Given the description of an element on the screen output the (x, y) to click on. 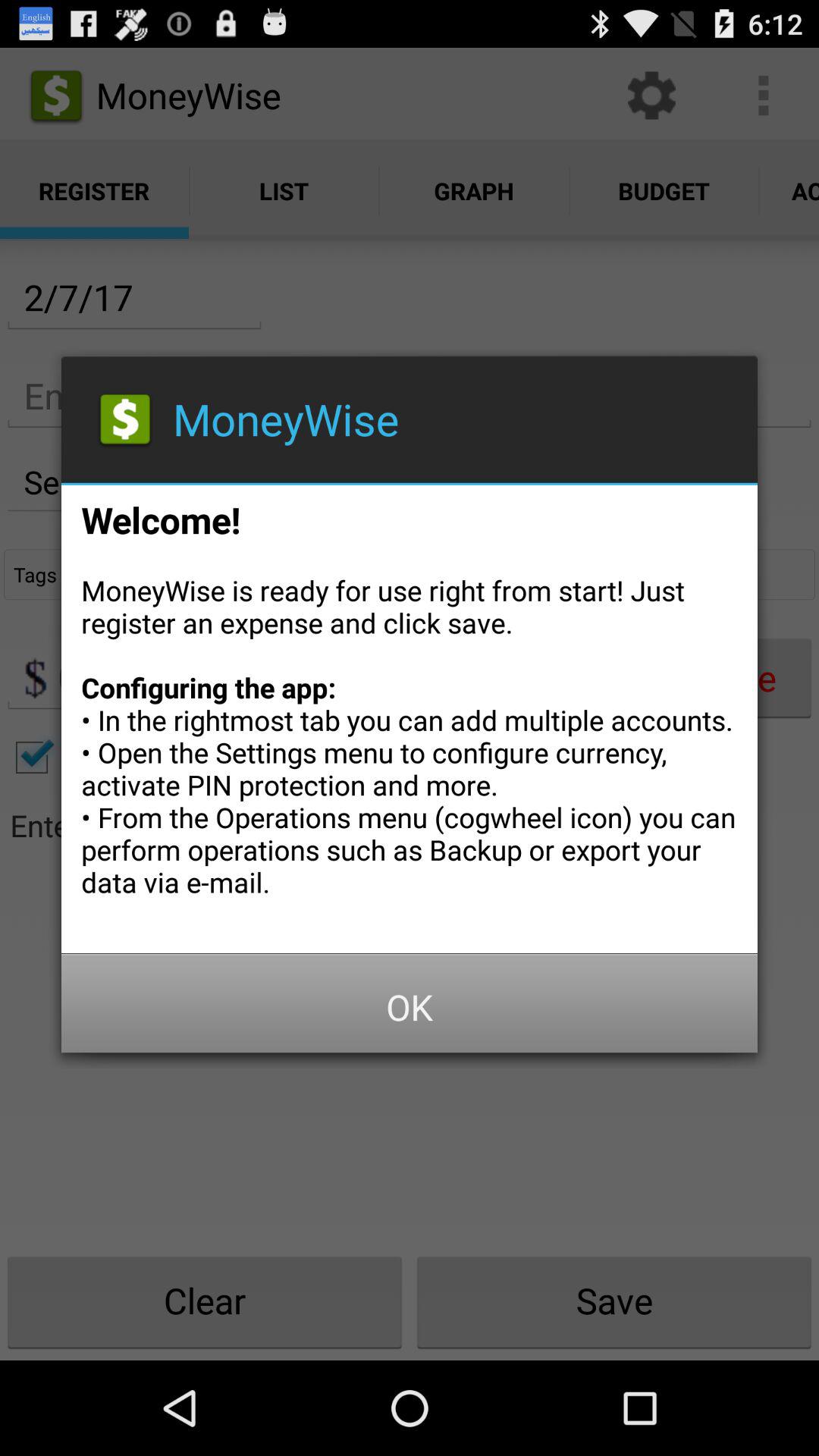
tap the item above the ok icon (409, 714)
